Given the description of an element on the screen output the (x, y) to click on. 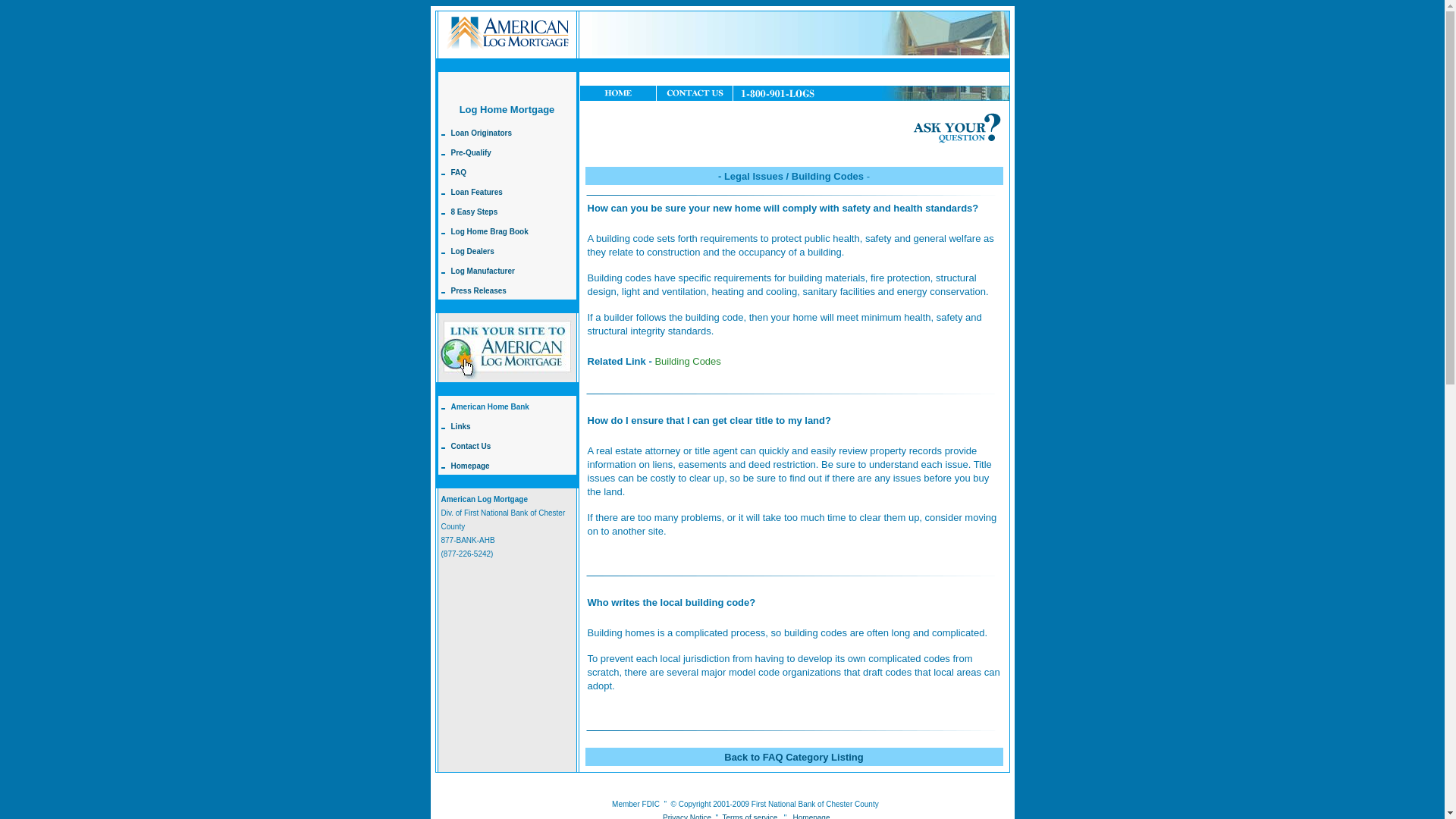
FAQ (457, 170)
Log Home Brag Book (488, 229)
Links (459, 424)
Privacy Notice (686, 816)
Contact Us (469, 444)
Log Manufacturer (481, 269)
Press Releases (477, 288)
How do I ensure that I can get clear title to my land? (707, 419)
Homepage (811, 816)
8 Easy Steps (473, 210)
Homepage (469, 463)
Loan Features (475, 190)
Log Dealers (471, 249)
Terms of service (749, 816)
